Given the description of an element on the screen output the (x, y) to click on. 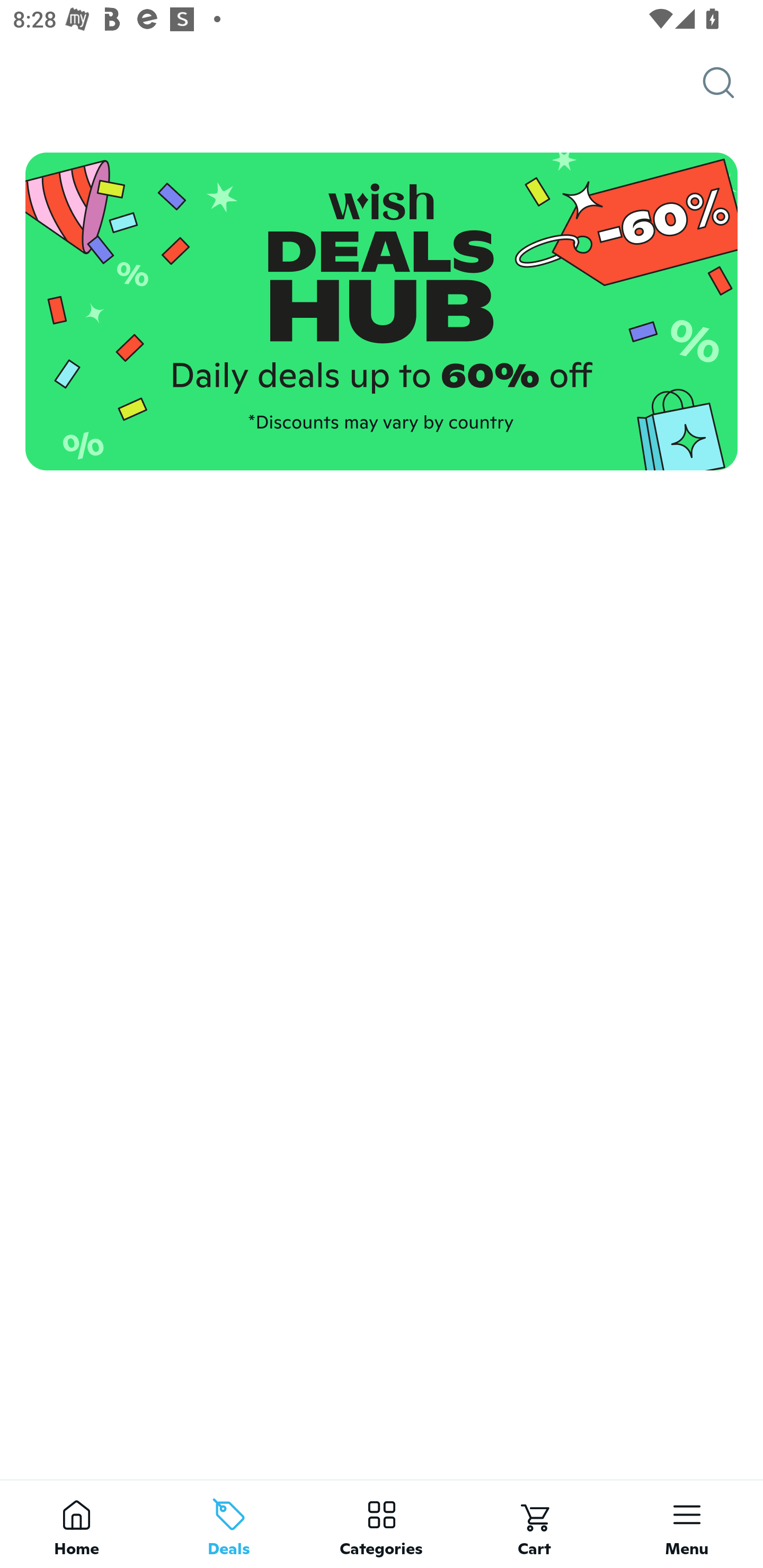
Search (732, 82)
Home (76, 1523)
Deals (228, 1523)
Categories (381, 1523)
Cart (533, 1523)
Menu (686, 1523)
